Given the description of an element on the screen output the (x, y) to click on. 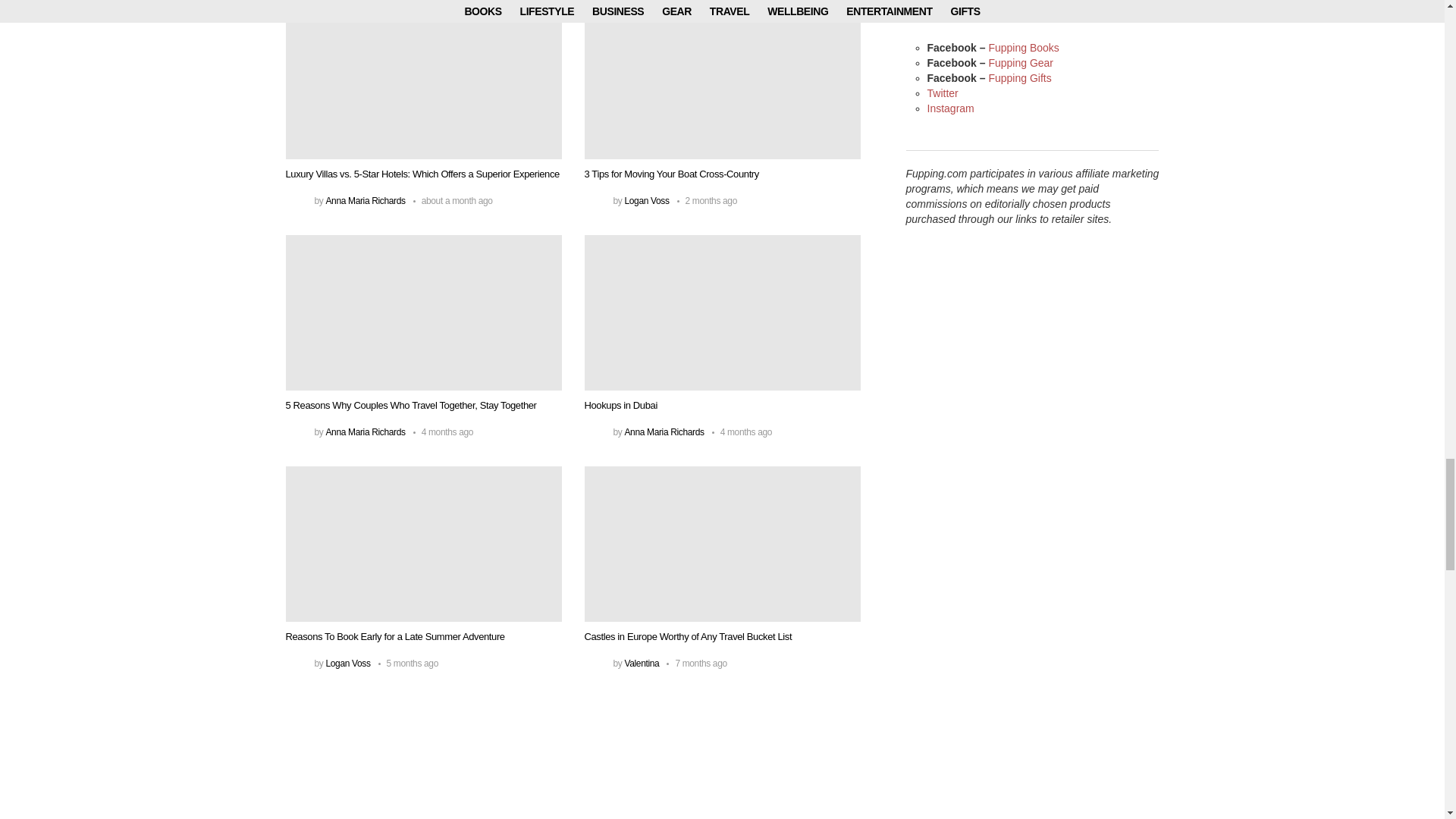
Posts by Anna Maria Richards (364, 200)
May 3, 2024, 7:54 pm (706, 200)
Posts by Logan Voss (646, 200)
3 Tips for Moving Your Boat Cross-Country (721, 81)
June 11, 2024, 10:41 pm (453, 200)
